Given the description of an element on the screen output the (x, y) to click on. 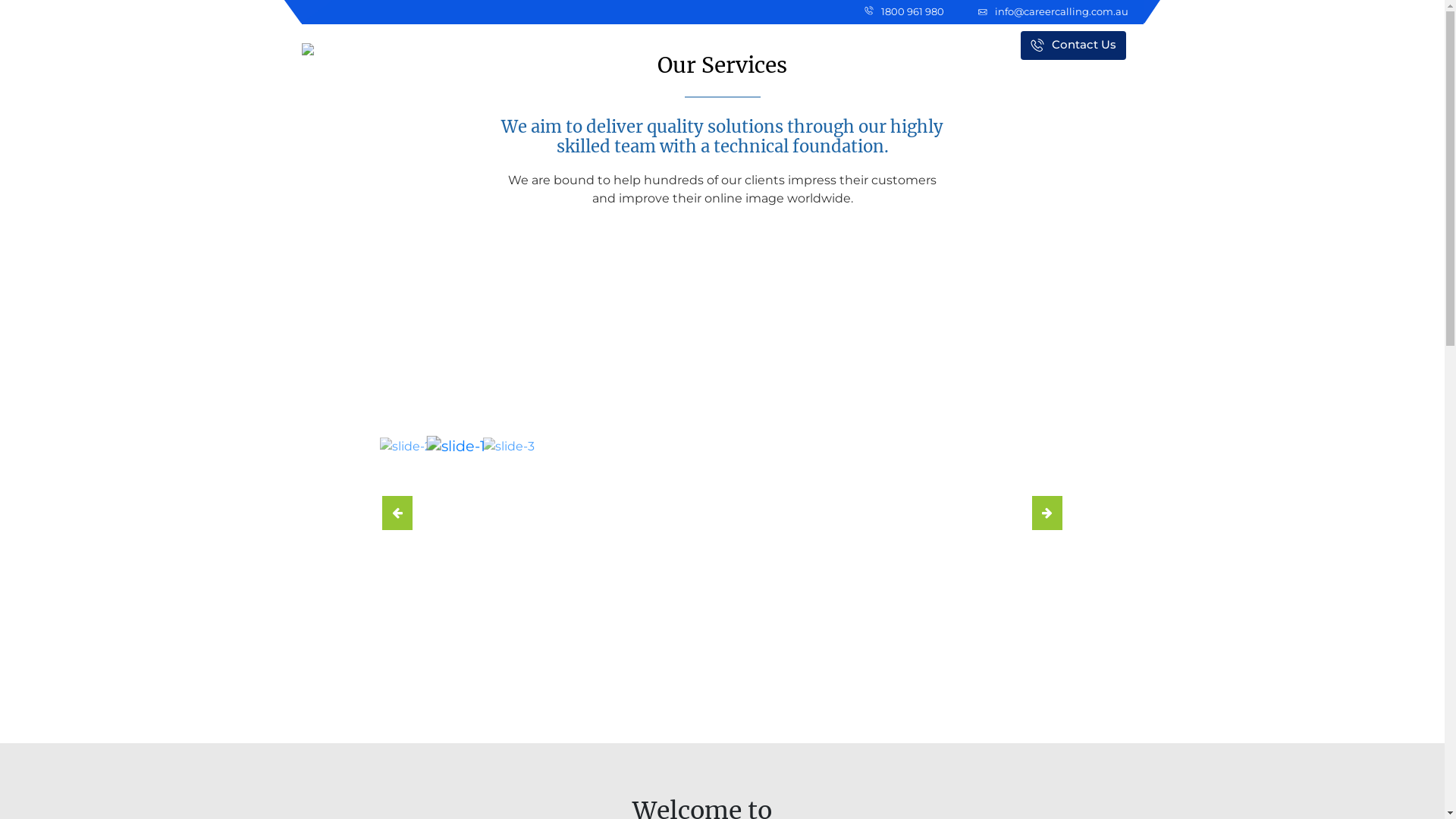
Contact Us Element type: text (1073, 44)
Portfolio Element type: text (961, 43)
info@careercalling.com.au Element type: text (1052, 12)
Case Studies Element type: text (870, 43)
About Us Element type: text (636, 43)
1800 961 980 Element type: text (903, 12)
Services Element type: text (718, 43)
News Element type: text (787, 43)
